Given the description of an element on the screen output the (x, y) to click on. 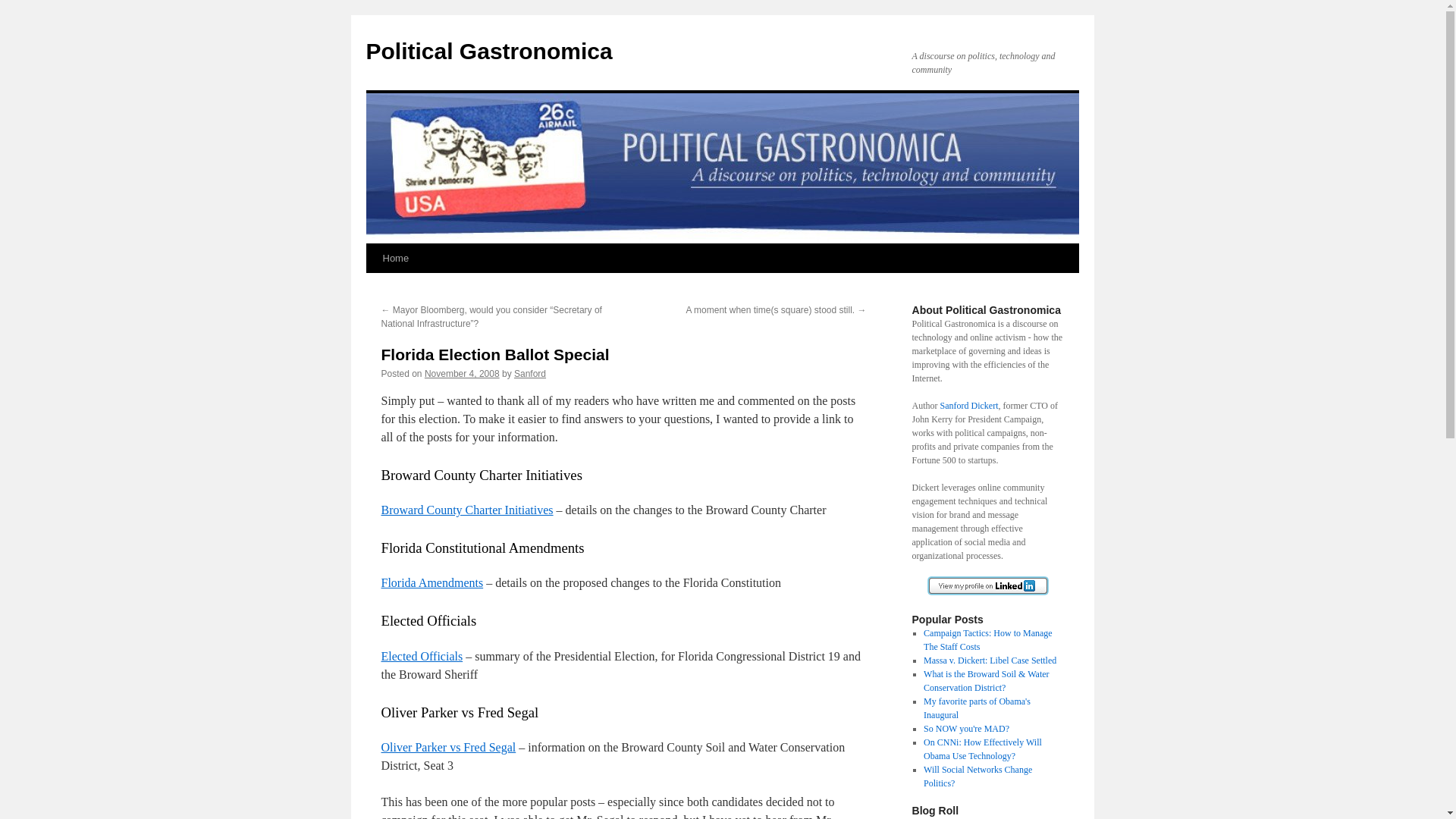
Broward County Charter Initiatives (466, 509)
Sanford (529, 373)
Sanford Dickert (969, 405)
8:00 am (462, 373)
November 4, 2008 (462, 373)
Massa v. Dickert: Libel Case Settled (990, 660)
Political Gastronomica (488, 50)
Home (395, 258)
On CNNi: How Effectively Will Obama Use Technology? (982, 749)
My favorite parts of Obama's Inaugural (976, 708)
Campaign Tactics: How to Manage The Staff Costs (987, 639)
Will Social Networks Change Politics? (977, 776)
Florida Amendments (431, 582)
So NOW you're MAD? (966, 728)
Elected Officials (421, 656)
